Given the description of an element on the screen output the (x, y) to click on. 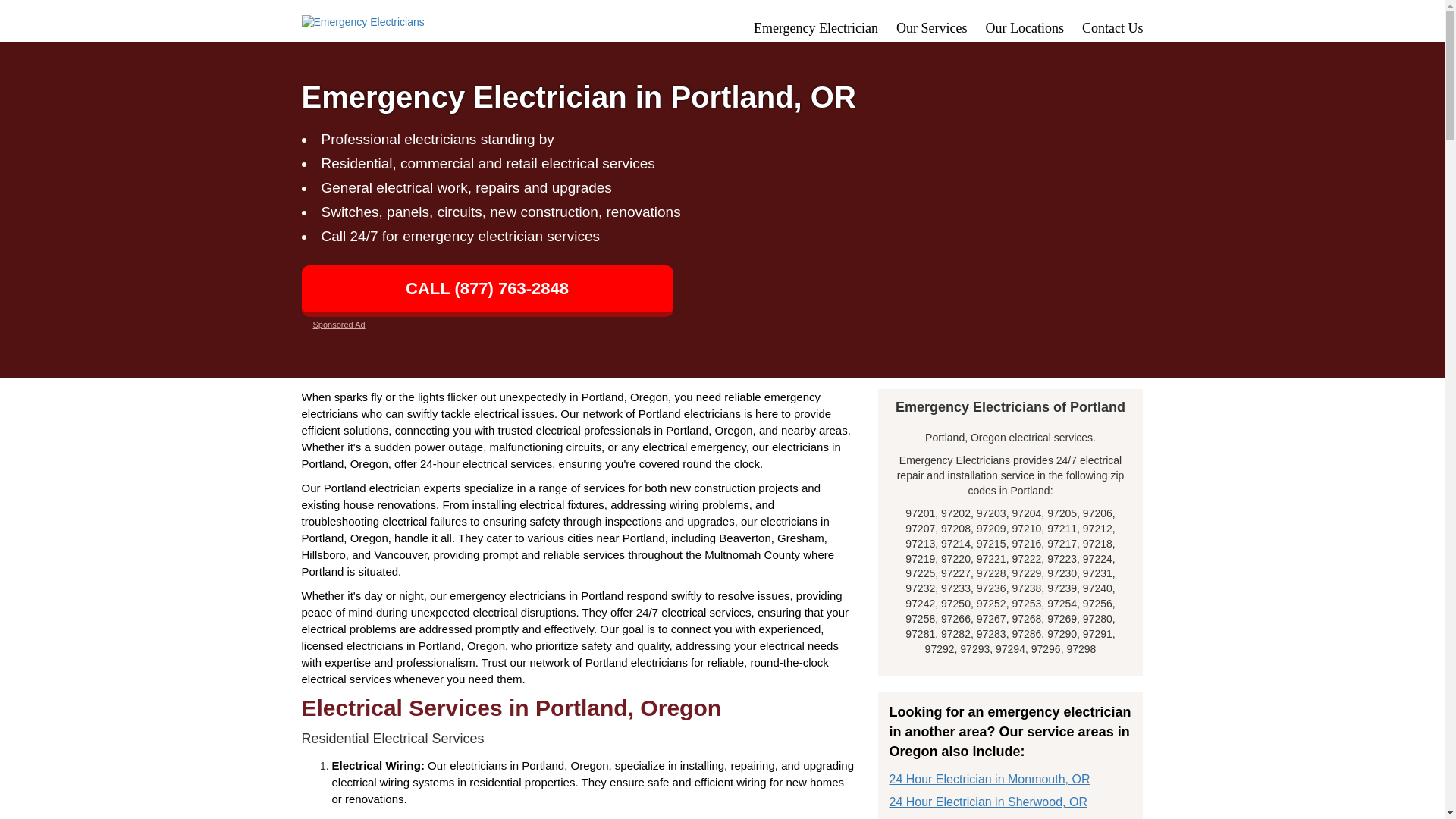
24 Hour Electrician in Sherwood, OR (987, 801)
Contact Us (1111, 28)
Our Locations (1024, 28)
Our Services (931, 28)
24 Hour Emergency Electrician in Sherwood, OR (987, 801)
24 Hour Emergency Electrician in Monmouth, OR (988, 778)
24 Hour Electrician in Monmouth, OR (988, 778)
Emergency Electrician (815, 28)
Sponsored Ad (339, 324)
